Given the description of an element on the screen output the (x, y) to click on. 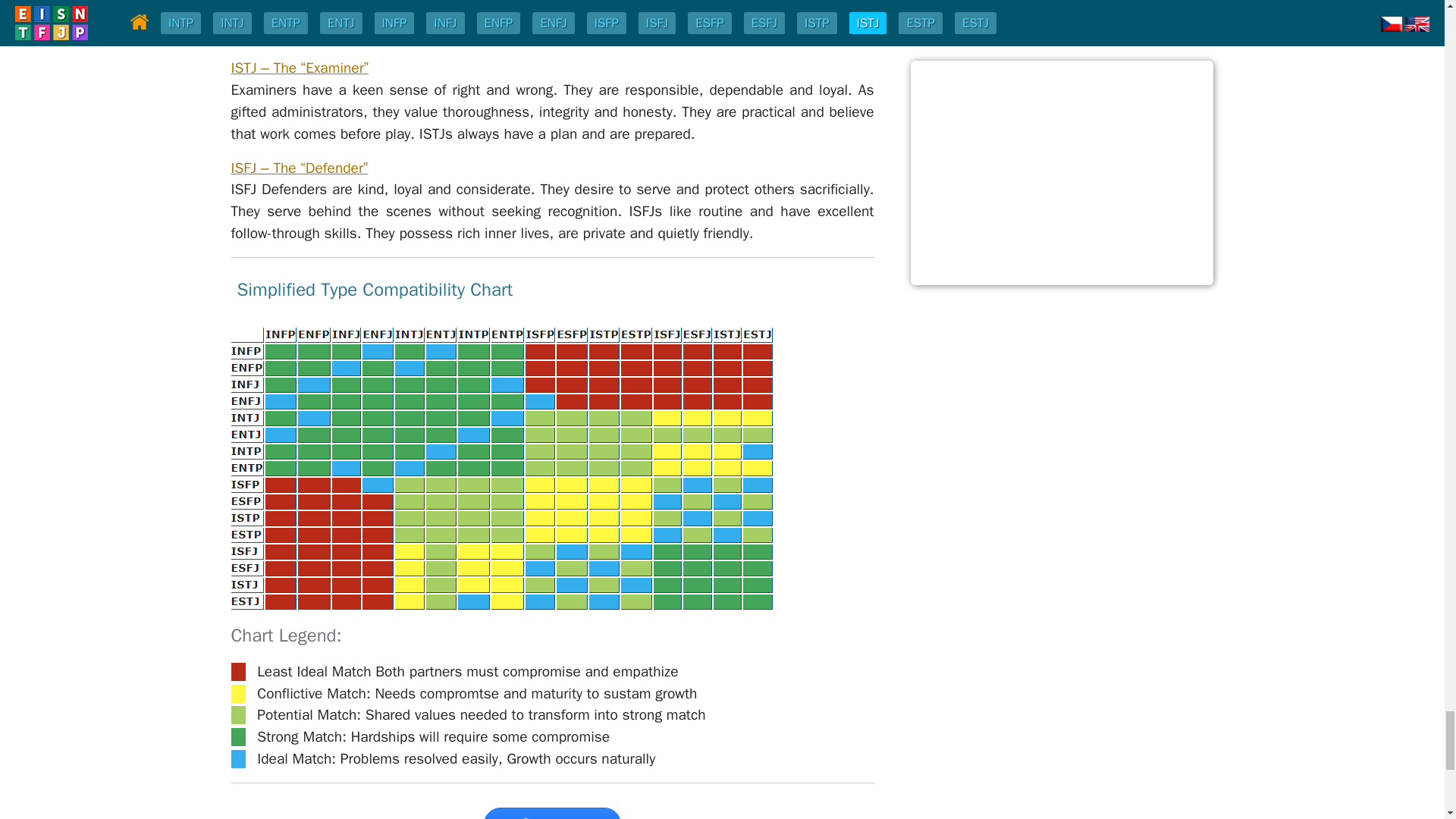
Start test (551, 813)
